Given the description of an element on the screen output the (x, y) to click on. 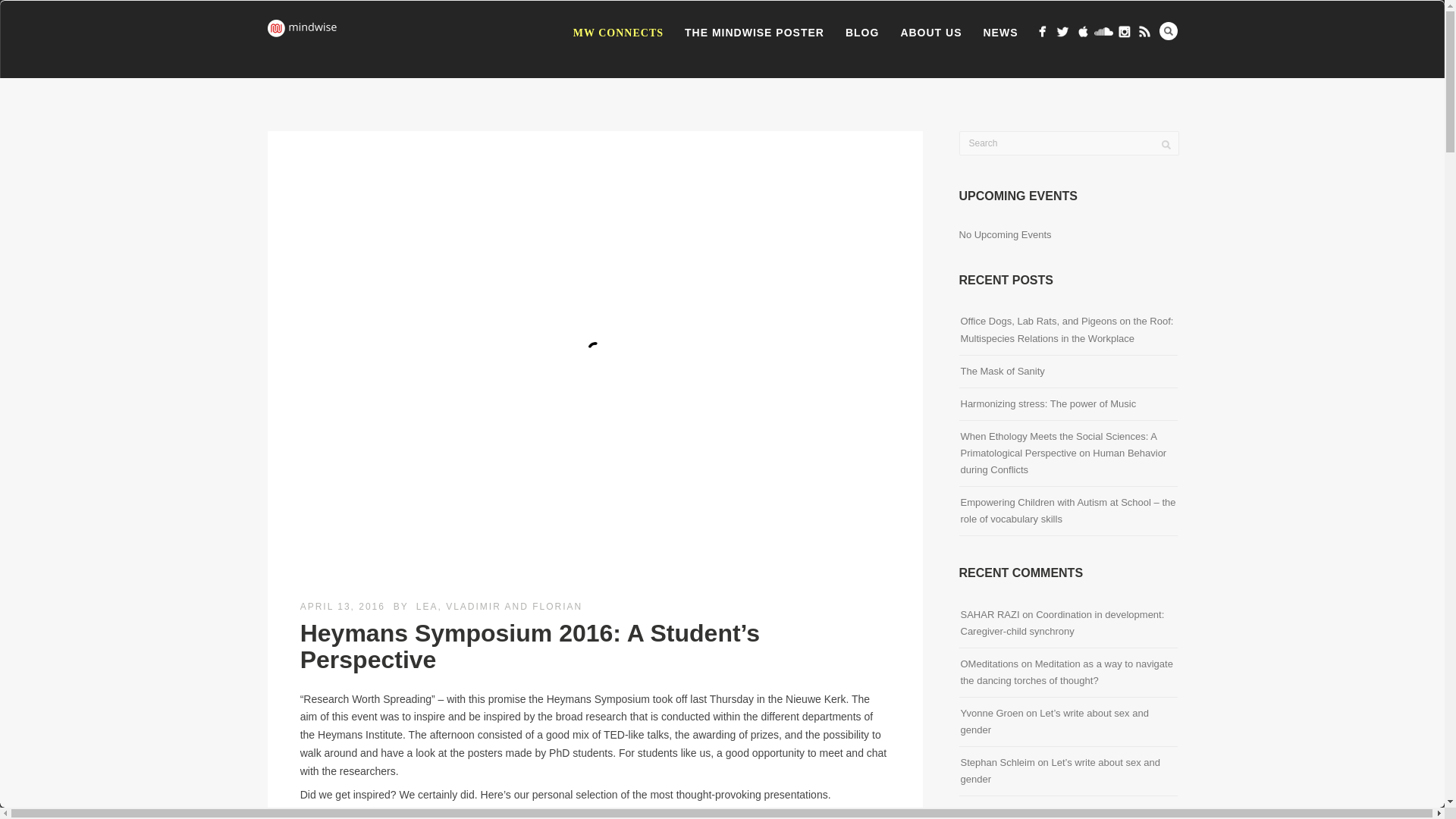
MW CONNECTS (618, 33)
Mindwise Faces (1124, 31)
iTunes (1083, 31)
Soundcloud (1102, 31)
ABOUT US (930, 33)
Twitter (1061, 31)
Search (1167, 31)
Facebook (1041, 31)
THE MINDWISE POSTER (754, 33)
NEWS (999, 33)
